Given the description of an element on the screen output the (x, y) to click on. 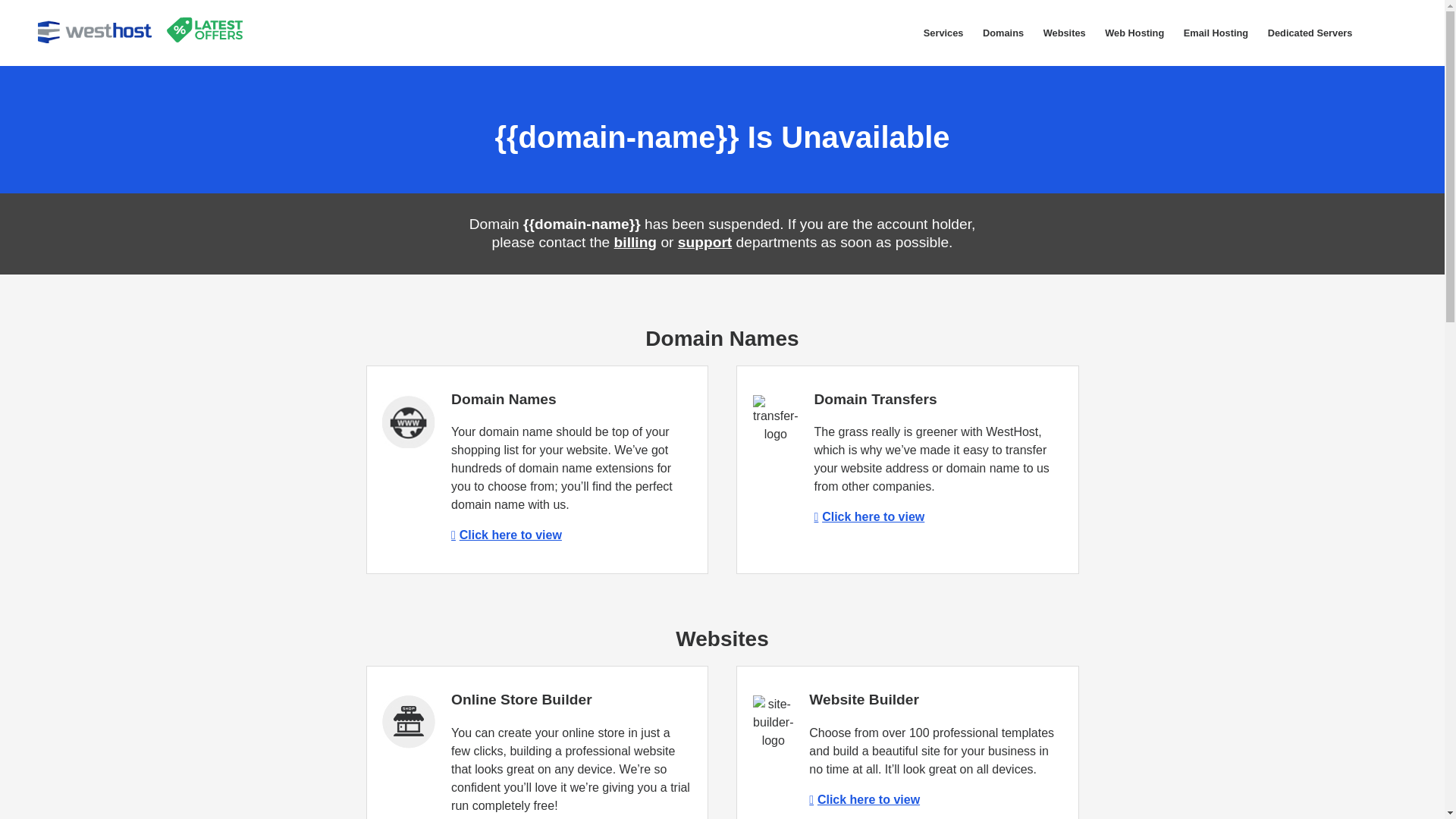
Click here to view (506, 534)
Websites (1064, 32)
Click here to view (868, 516)
Email Hosting (1215, 32)
billing (636, 242)
Domains (1002, 32)
Web Hosting (1133, 32)
support (705, 242)
Services (943, 32)
Dedicated Servers (1309, 32)
Click here to view (864, 799)
